Given the description of an element on the screen output the (x, y) to click on. 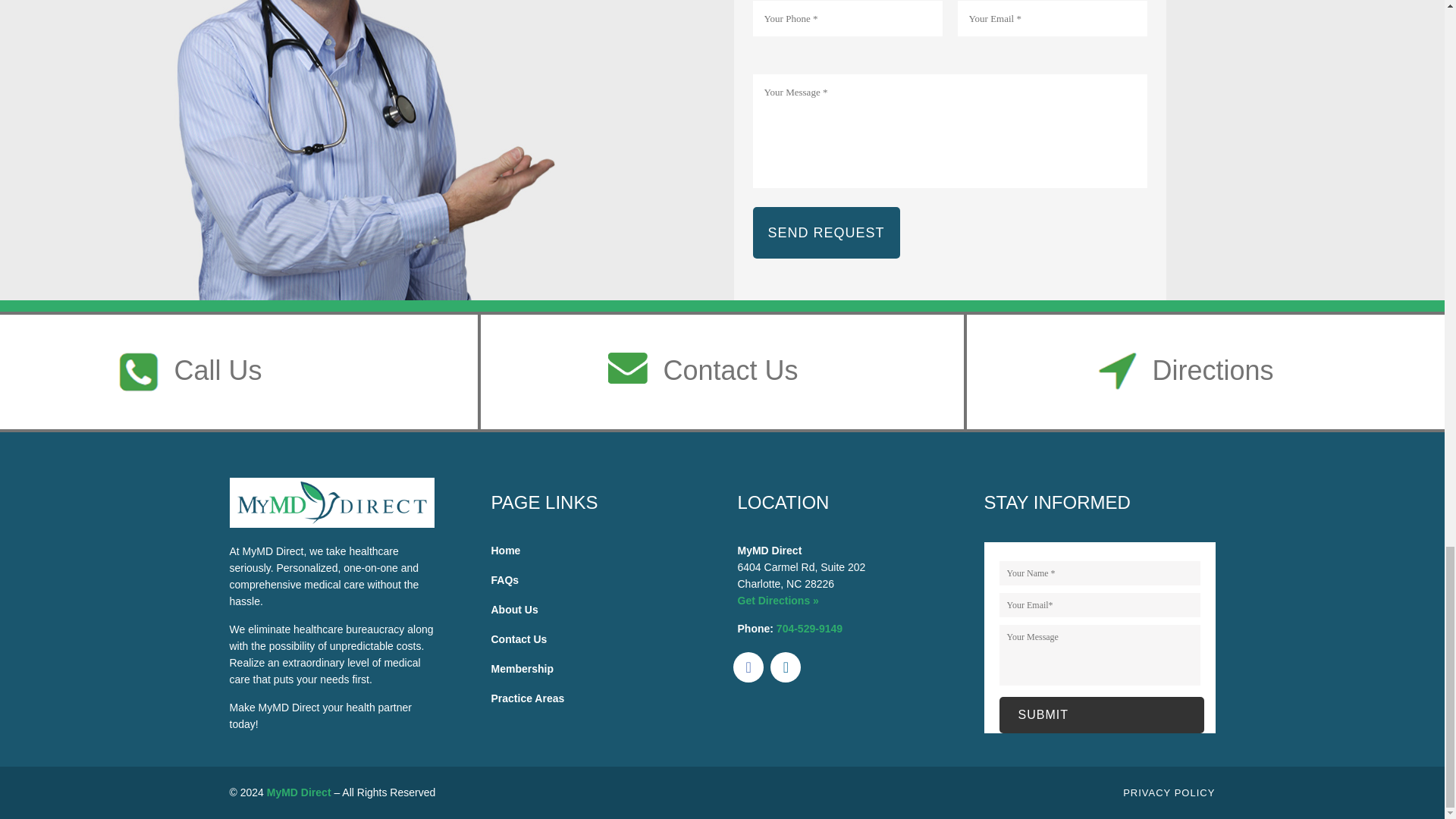
SEND REQUEST (825, 232)
Submit (1101, 714)
Call Us (217, 370)
SEND REQUEST (825, 232)
Contact Us (729, 370)
Click to Call (809, 628)
